Given the description of an element on the screen output the (x, y) to click on. 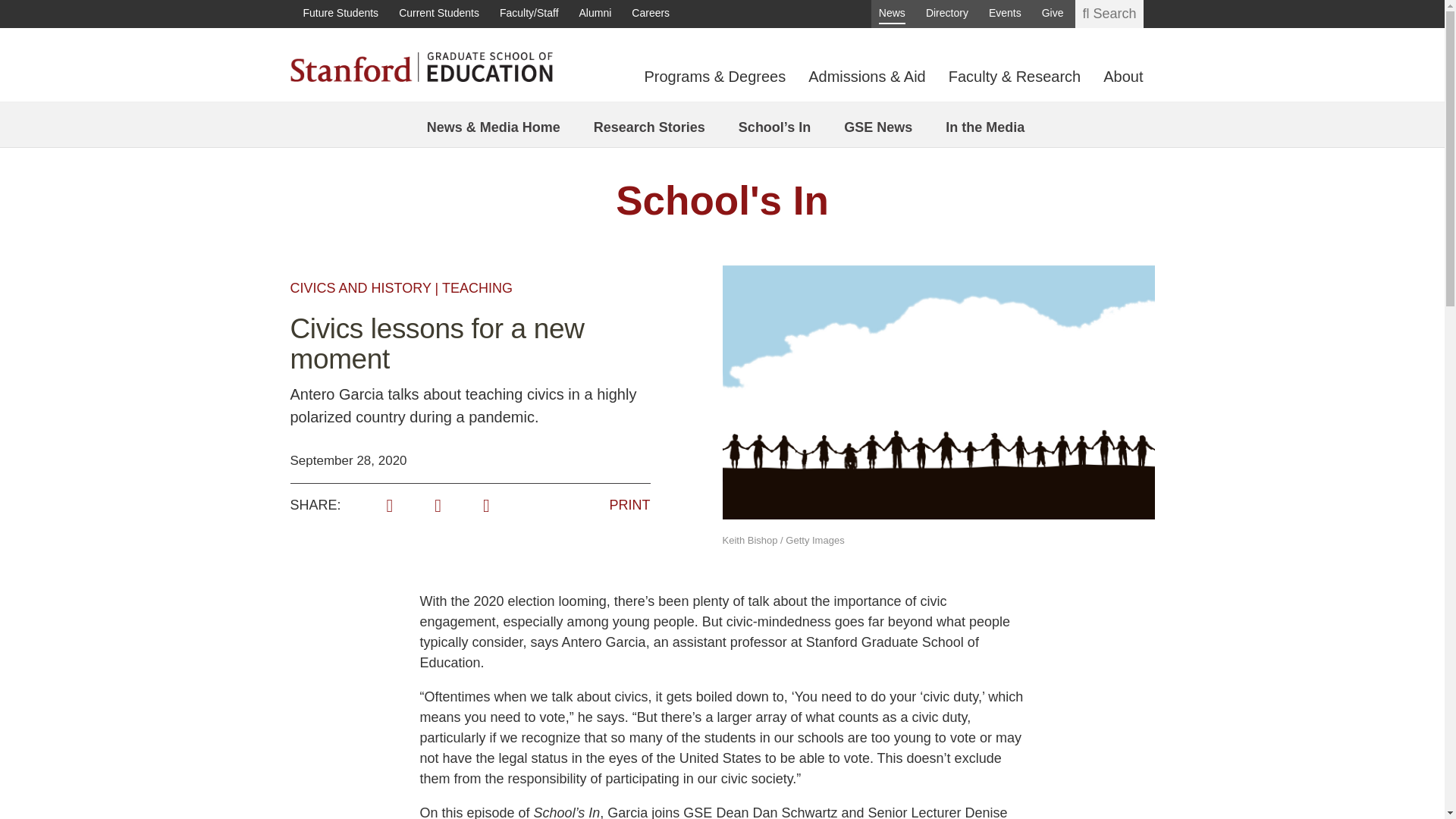
Future Students (340, 14)
TEACHING (477, 287)
GSE News (877, 127)
Research Stories (649, 127)
Home (420, 64)
CIVICS AND HISTORY (359, 287)
Current Students (438, 14)
Events (1005, 14)
Careers (650, 14)
Alumni (595, 14)
About (1122, 83)
In the Media (984, 127)
School's In (721, 200)
Directory (947, 14)
Site search (1108, 13)
